Given the description of an element on the screen output the (x, y) to click on. 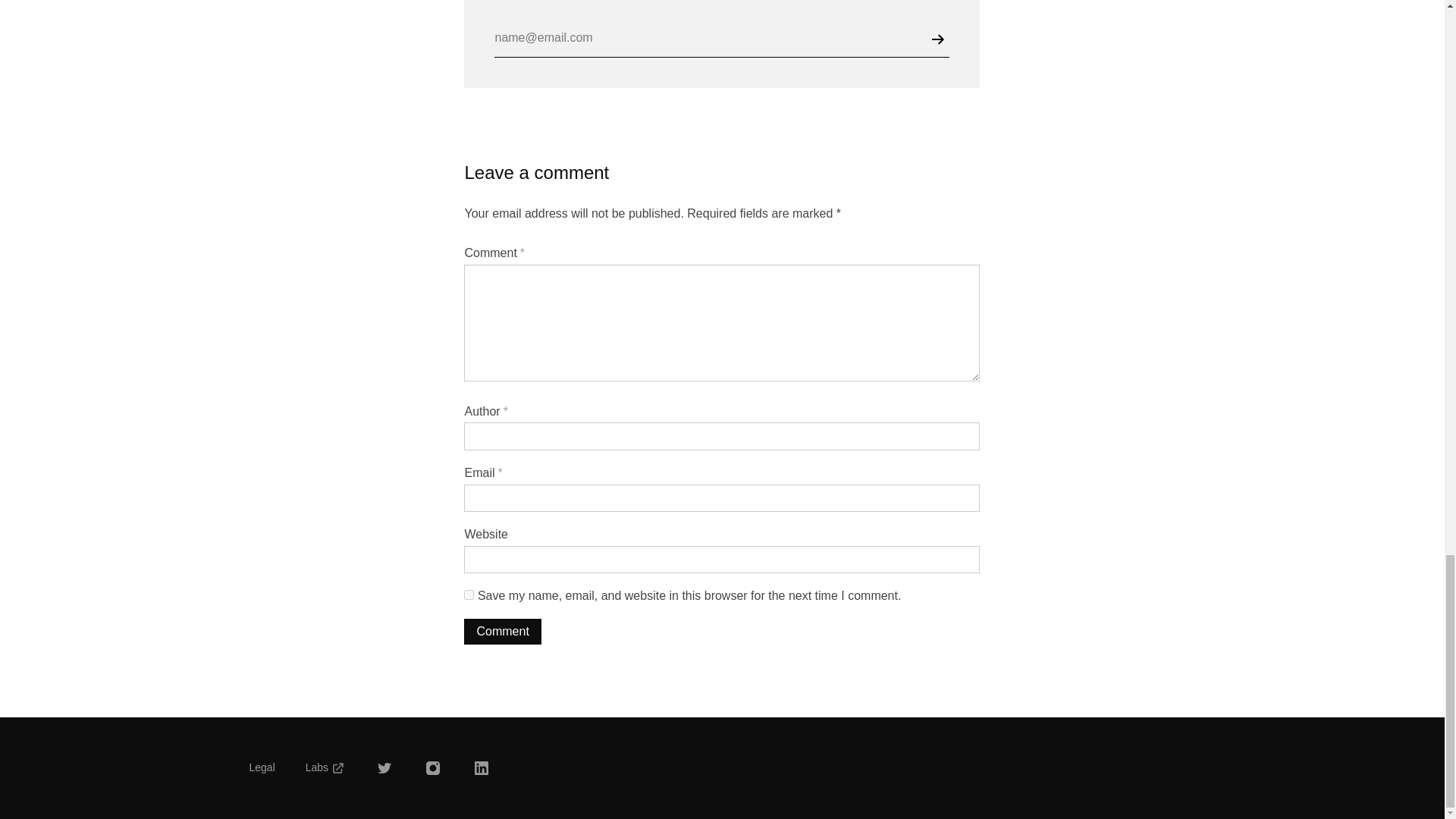
Labs (325, 767)
Subscribe (940, 39)
Twitter (384, 768)
Comment (502, 631)
yes (469, 594)
LinkedIn (480, 768)
Comment (502, 631)
Instagram (432, 768)
Legal (261, 767)
Subscribe (940, 39)
